Given the description of an element on the screen output the (x, y) to click on. 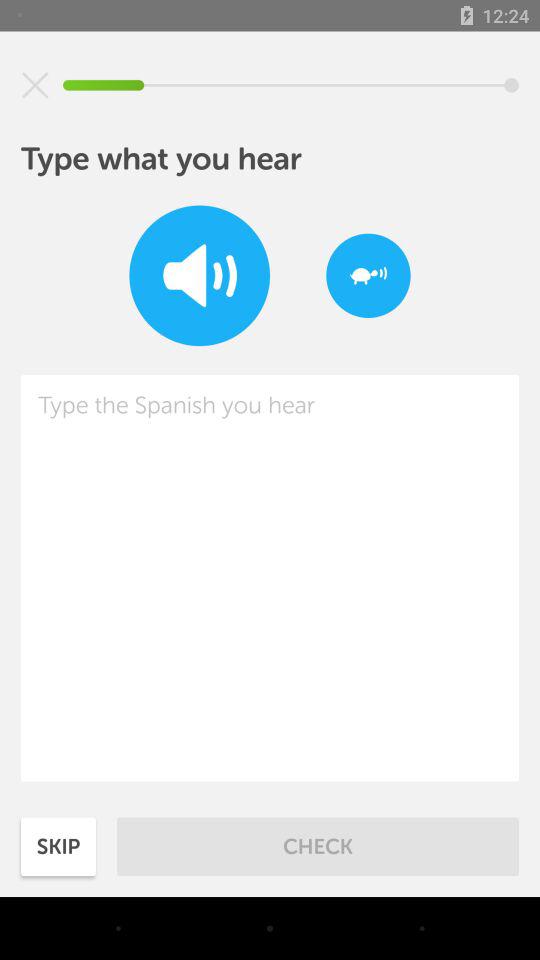
close window (35, 85)
